Given the description of an element on the screen output the (x, y) to click on. 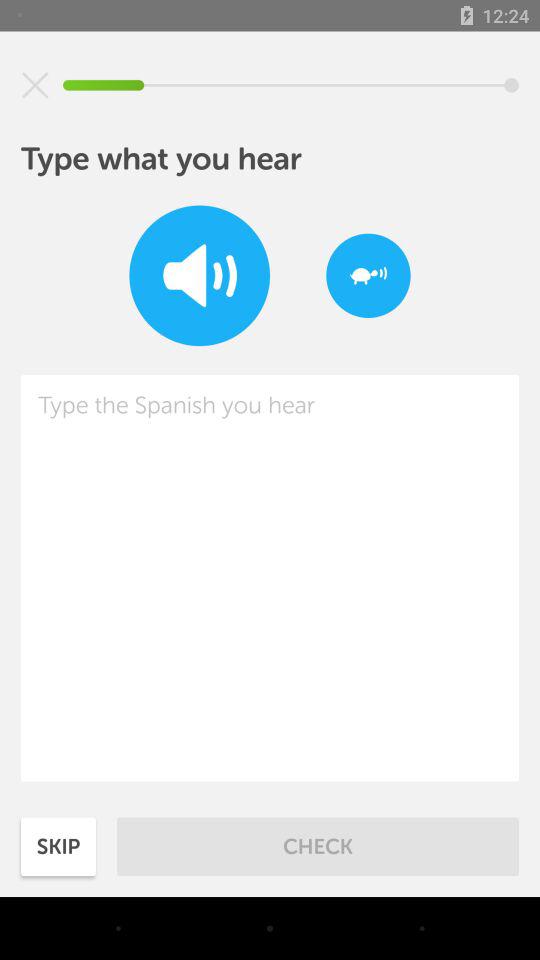
close window (35, 85)
